Given the description of an element on the screen output the (x, y) to click on. 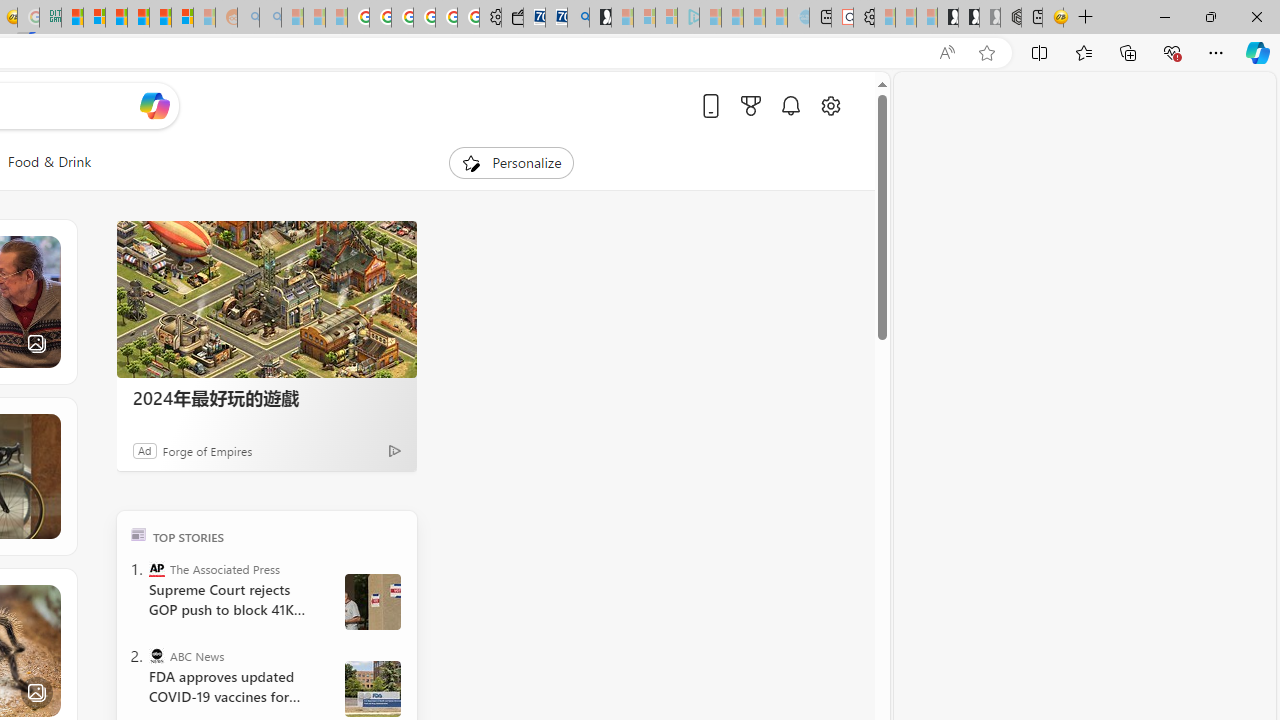
Kinda Frugal - MSN (160, 17)
